Given the description of an element on the screen output the (x, y) to click on. 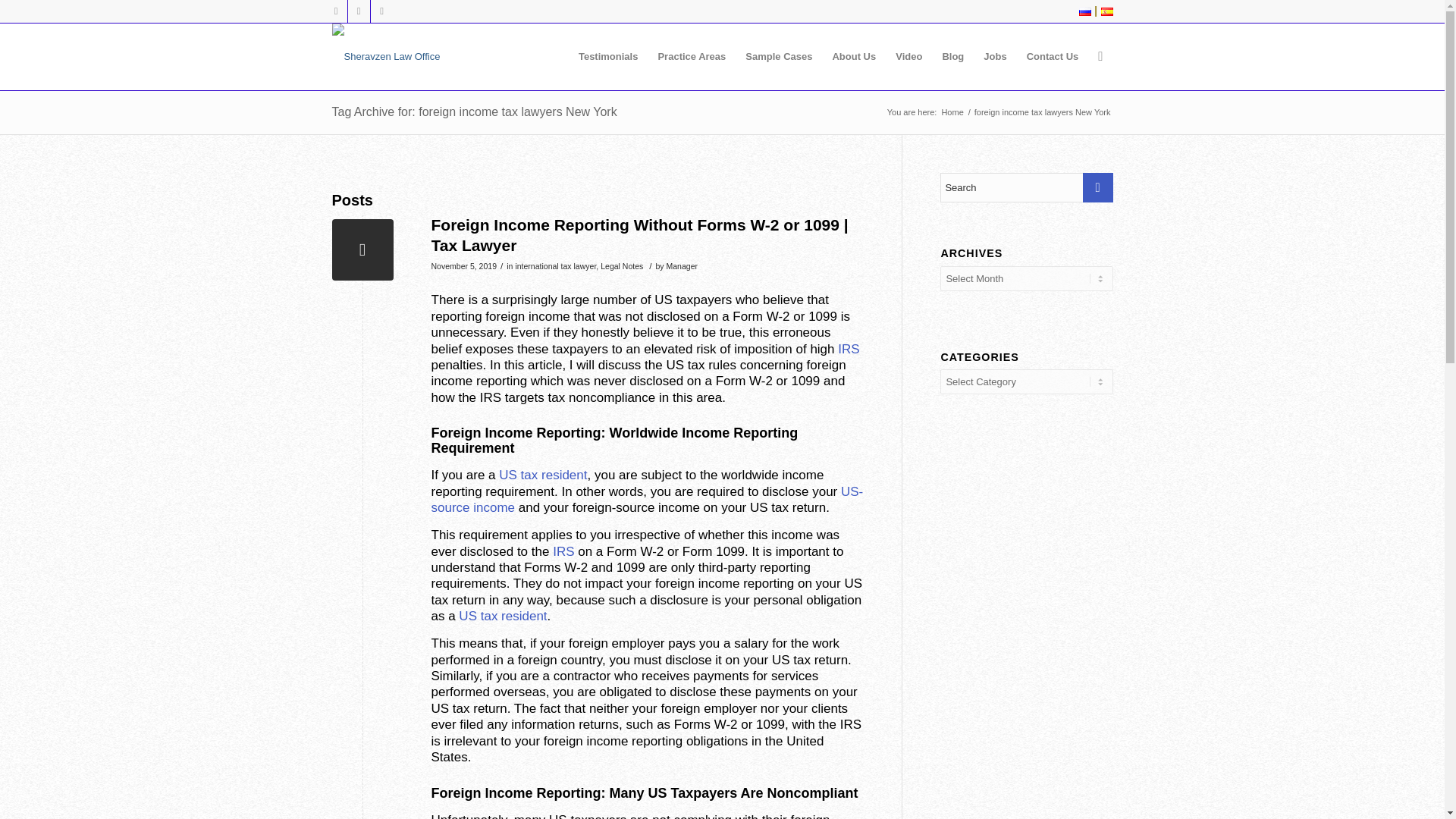
Contact Us (1052, 56)
Practice Areas (691, 56)
IRS (848, 349)
Testimonials (608, 56)
IRS (563, 551)
Gplus (358, 11)
About Us (853, 56)
US tax resident (542, 474)
international tax lawyer (555, 266)
Facebook (381, 11)
Home (952, 112)
Sample Cases (778, 56)
Twitter (335, 11)
Sherayzen Law Office (952, 112)
US-source income (646, 499)
